Given the description of an element on the screen output the (x, y) to click on. 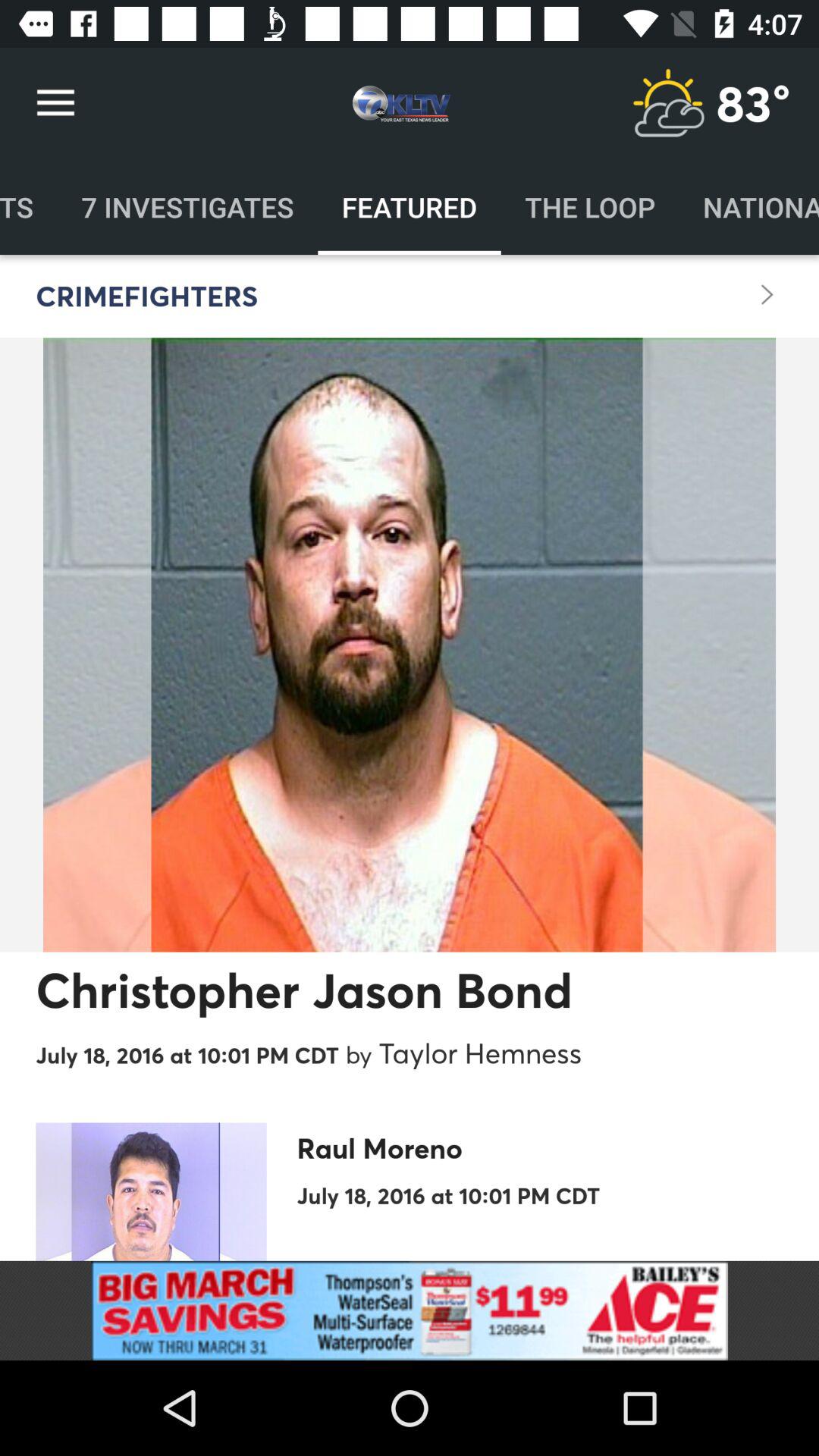
go to weather (668, 103)
